Given the description of an element on the screen output the (x, y) to click on. 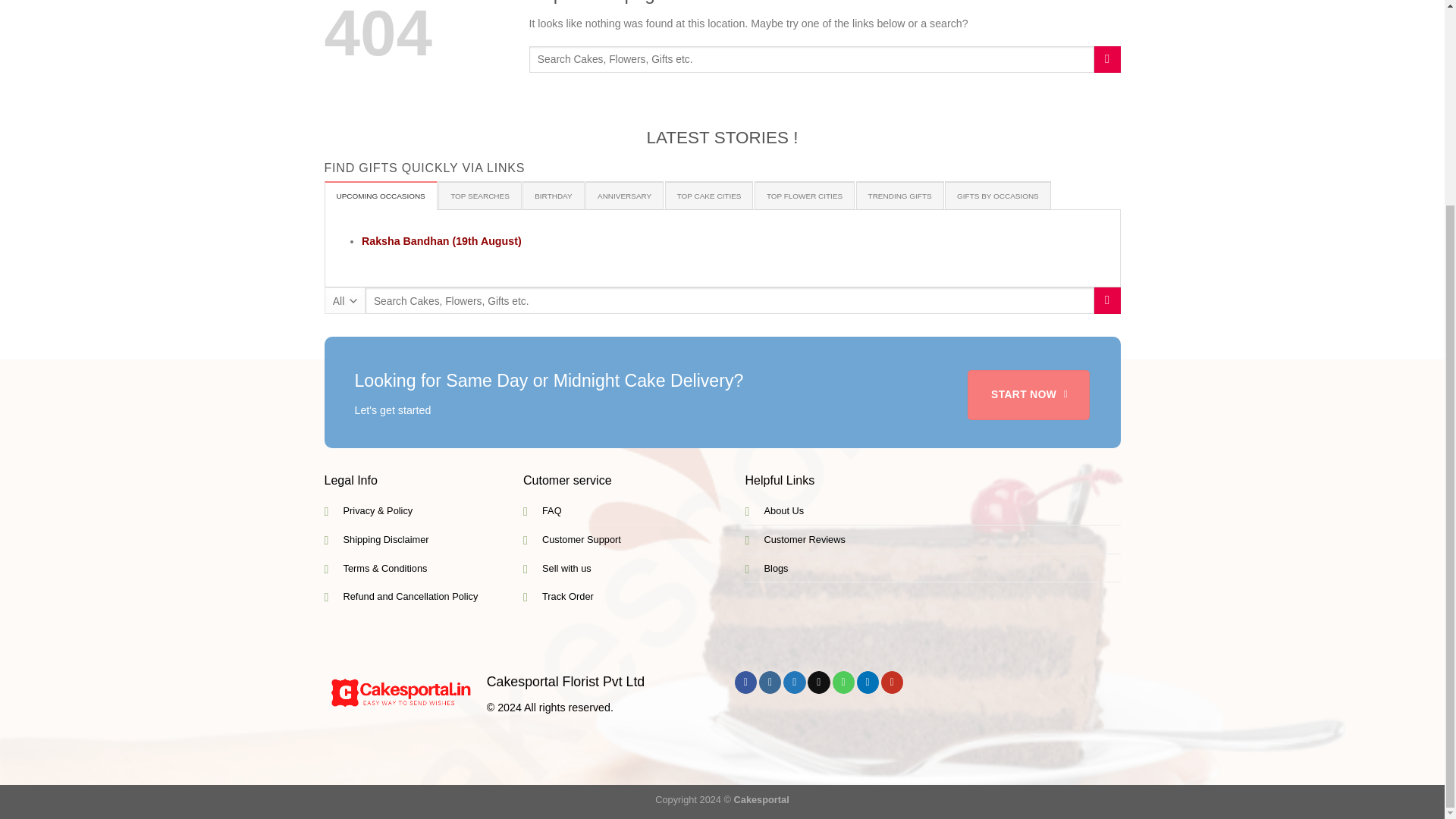
Follow on Facebook (746, 681)
Follow on LinkedIn (868, 681)
Send us an email (818, 681)
Follow on Instagram (769, 681)
Follow on Twitter (794, 681)
Call us (843, 681)
